Given the description of an element on the screen output the (x, y) to click on. 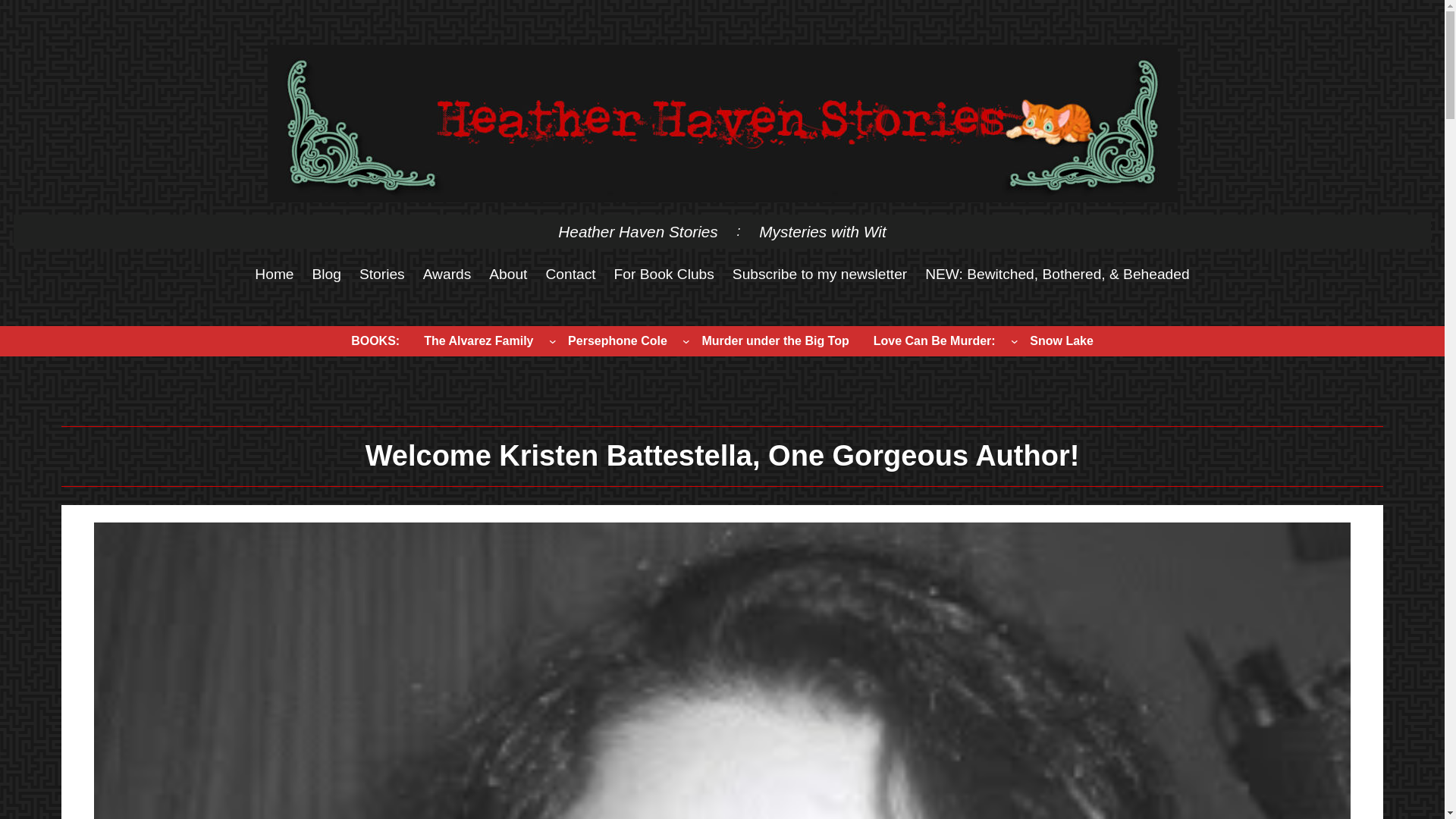
Murder under the Big Top (774, 340)
About (508, 273)
Persephone Cole (617, 340)
Heather Haven Stories (637, 233)
Blog (326, 273)
Contact (569, 273)
For Book Clubs (664, 273)
Snow Lake (1061, 340)
Love Can Be Murder: (934, 340)
Home (274, 273)
Stories (381, 273)
Subscribe to my newsletter (819, 273)
Awards (447, 273)
BOOKS: (375, 340)
The Alvarez Family (478, 340)
